Given the description of an element on the screen output the (x, y) to click on. 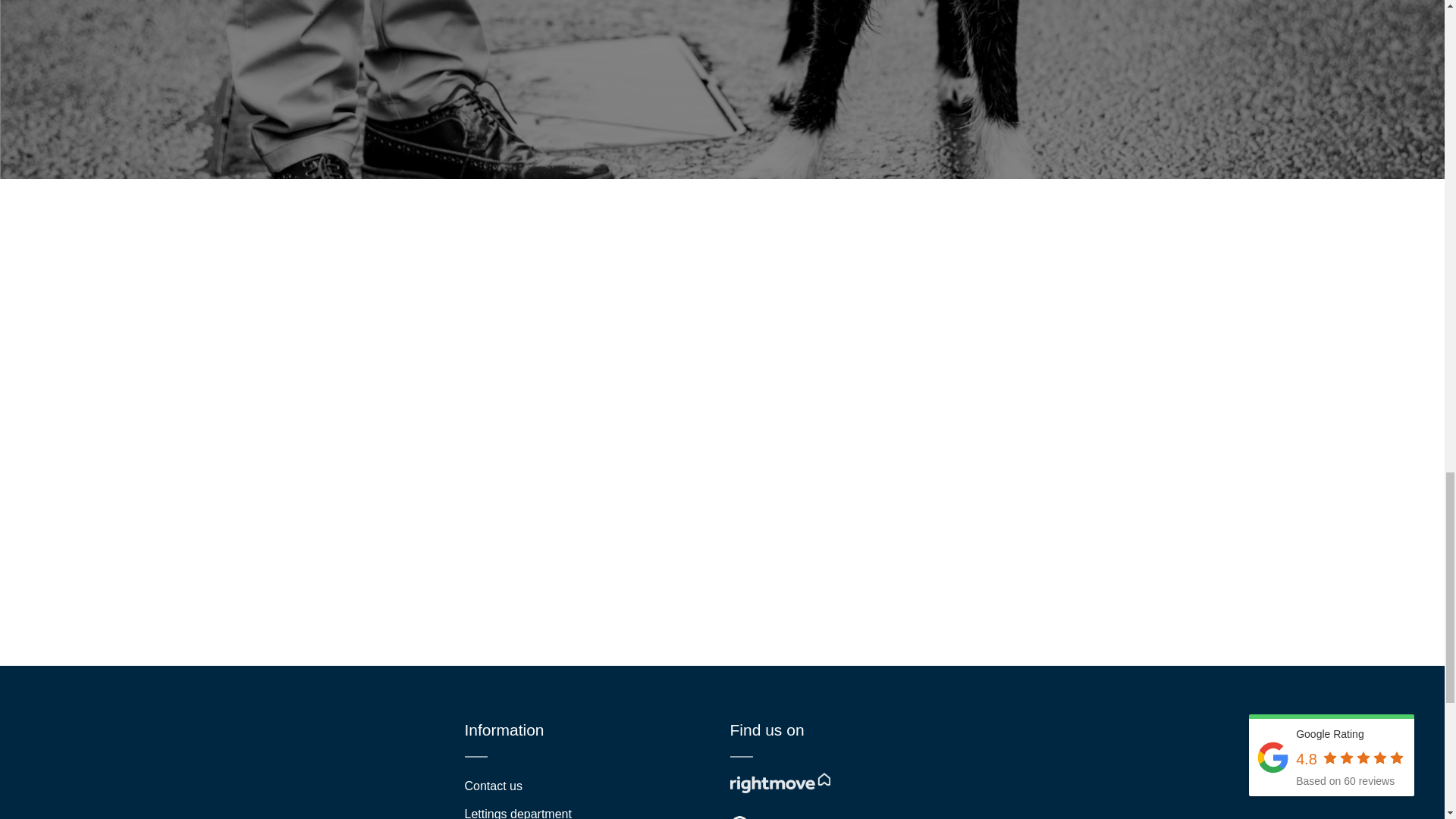
Lettings department (585, 809)
Contact us (585, 786)
